Given the description of an element on the screen output the (x, y) to click on. 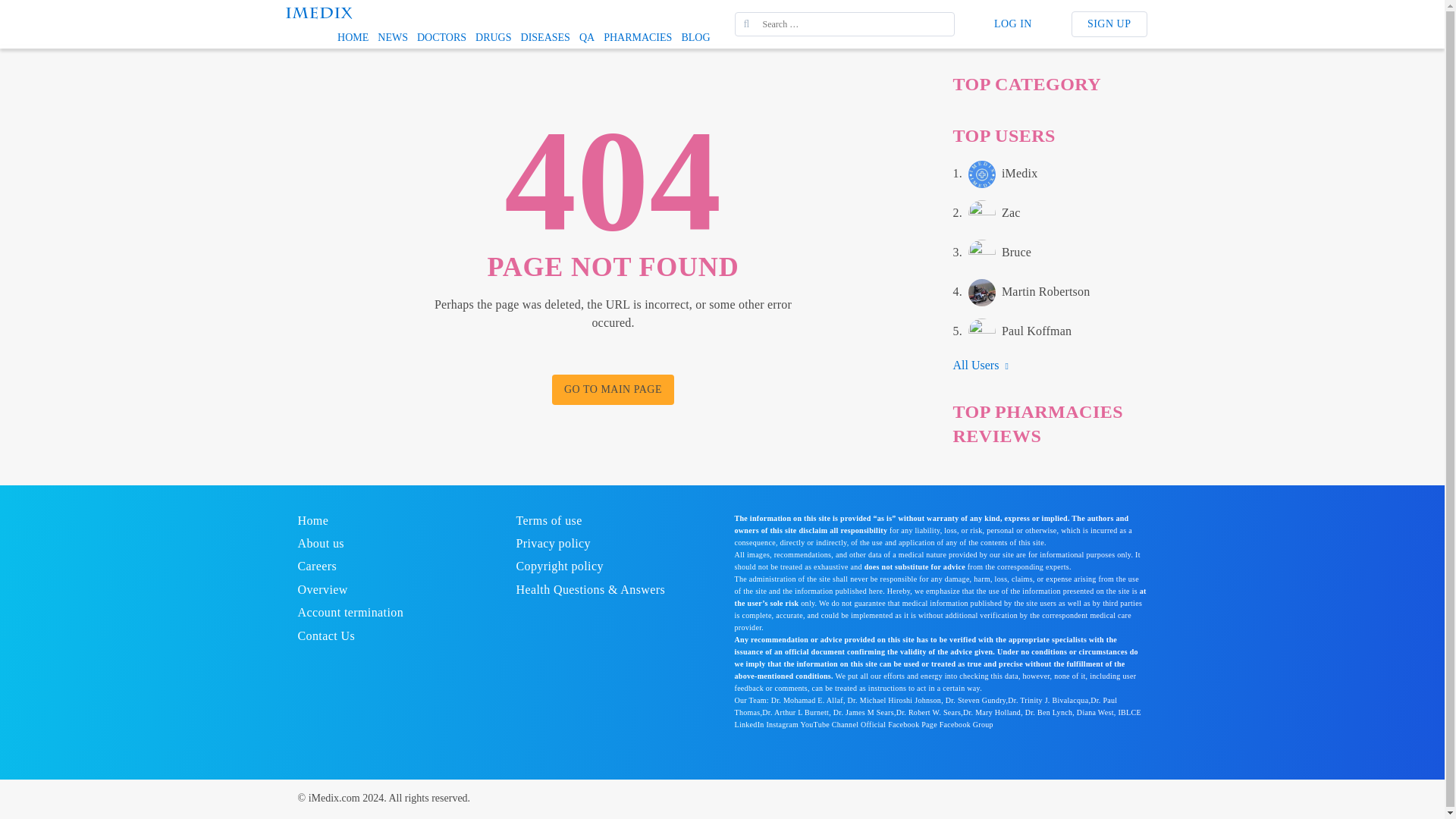
LOG IN (986, 213)
DOCTORS (1012, 24)
NEWS (440, 37)
BLOG (392, 37)
DRUGS (695, 37)
DISEASES (493, 37)
QA (545, 37)
GO TO MAIN PAGE (586, 37)
PHARMACIES (612, 389)
HOME (637, 37)
SIGN UP (352, 37)
Search (991, 252)
